Given the description of an element on the screen output the (x, y) to click on. 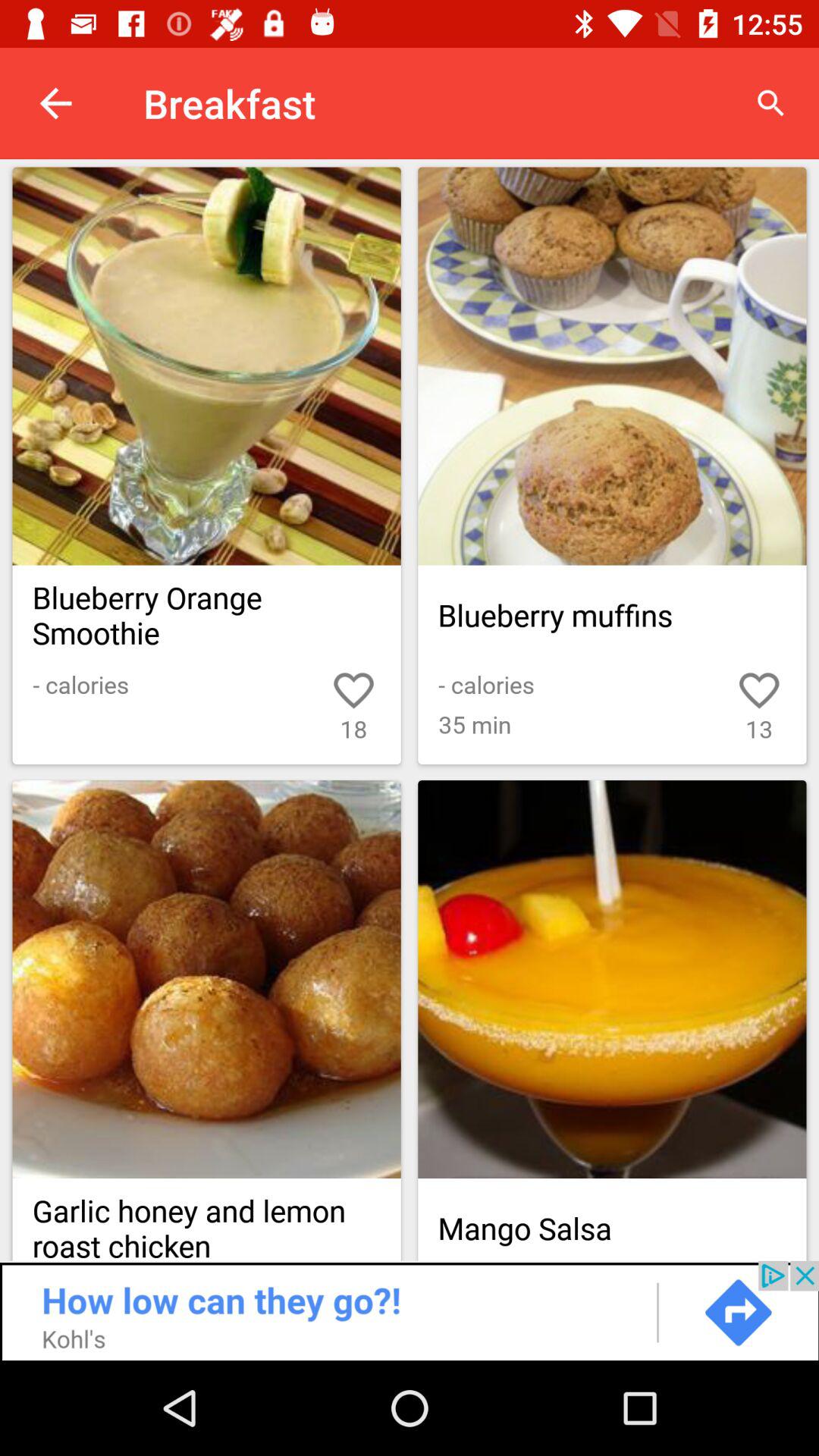
mango salsa (612, 979)
